Given the description of an element on the screen output the (x, y) to click on. 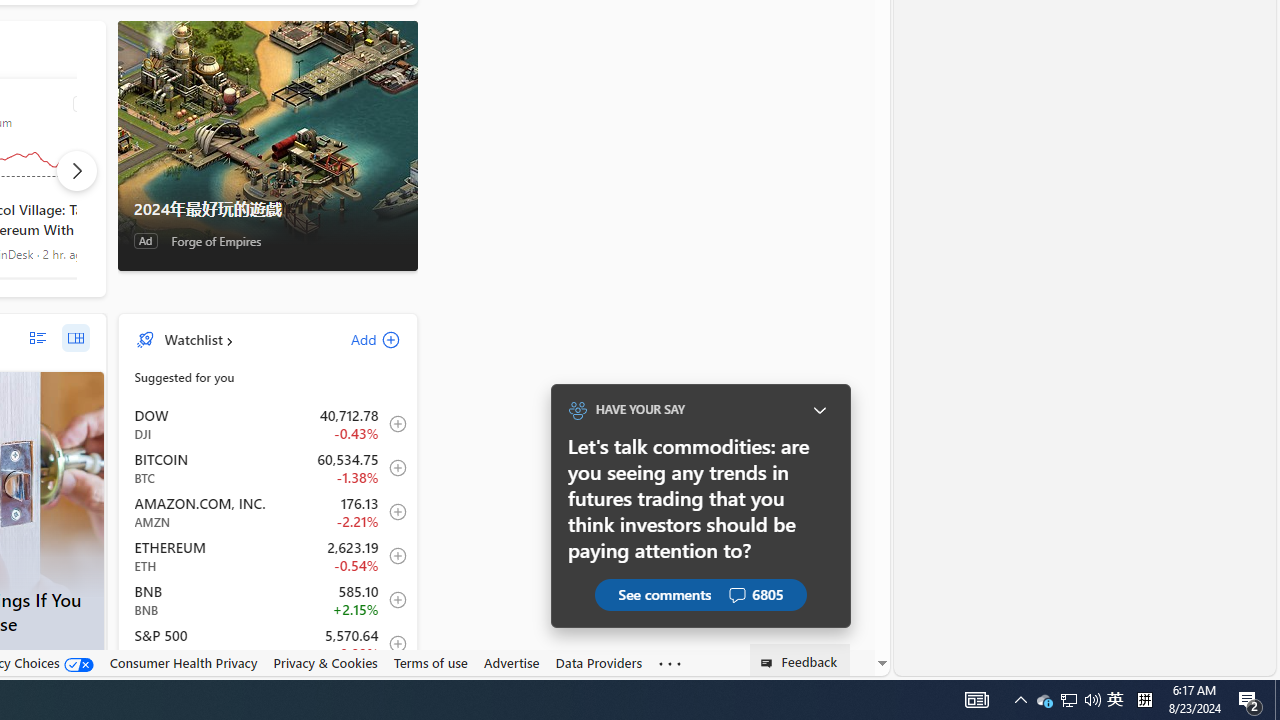
list layout (37, 338)
